Given the description of an element on the screen output the (x, y) to click on. 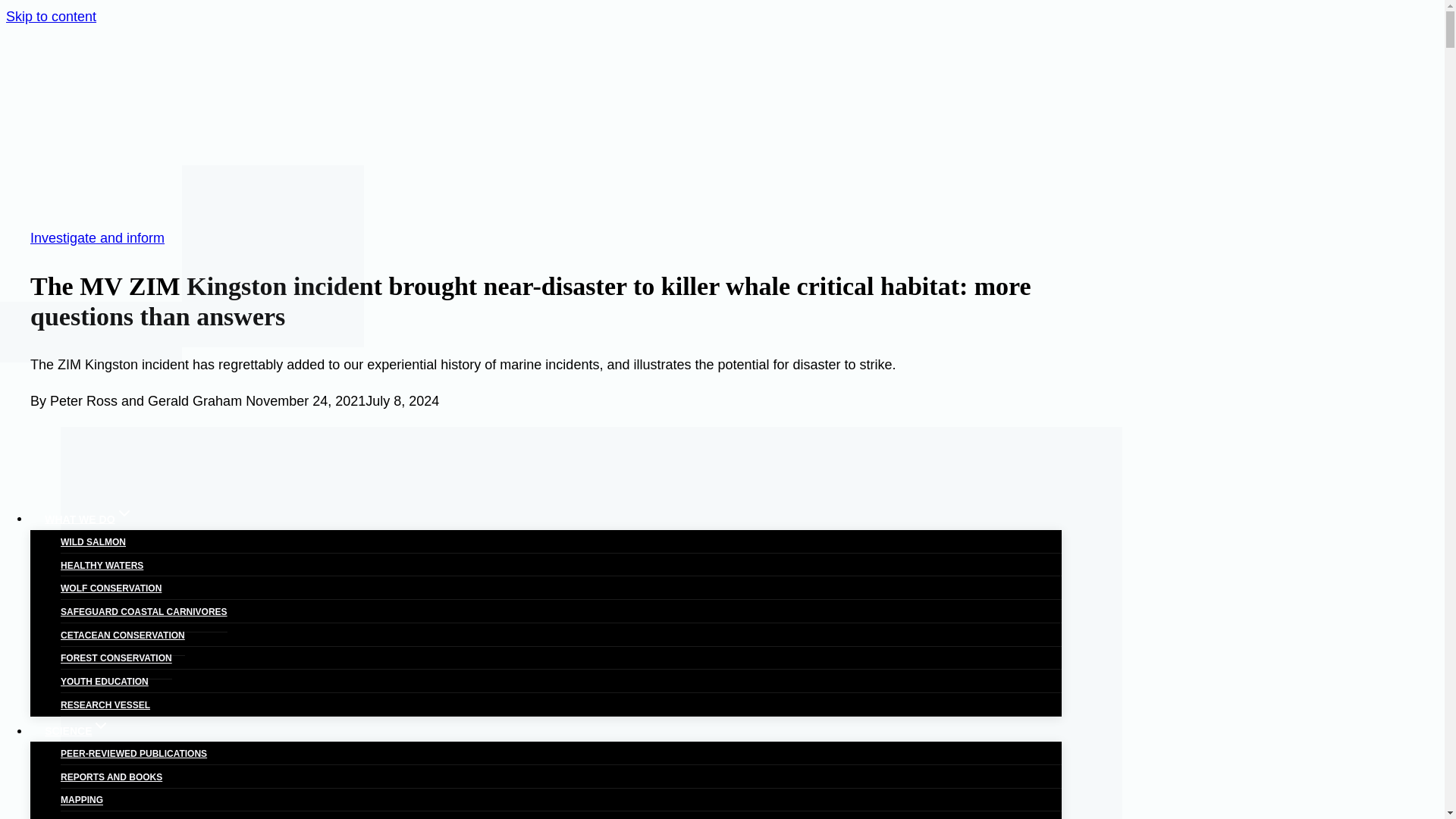
WILD SALMON (93, 542)
CETACEAN CONSERVATION (122, 635)
EXPAND (124, 513)
Skip to content (50, 16)
REPORTS AND BOOKS (111, 776)
SCIENCEEXPAND (77, 730)
HEALTHY WATERS (101, 566)
PEER-REVIEWED PUBLICATIONS (133, 753)
Investigate and inform (97, 237)
RESEARCH VESSEL (105, 705)
